Given the description of an element on the screen output the (x, y) to click on. 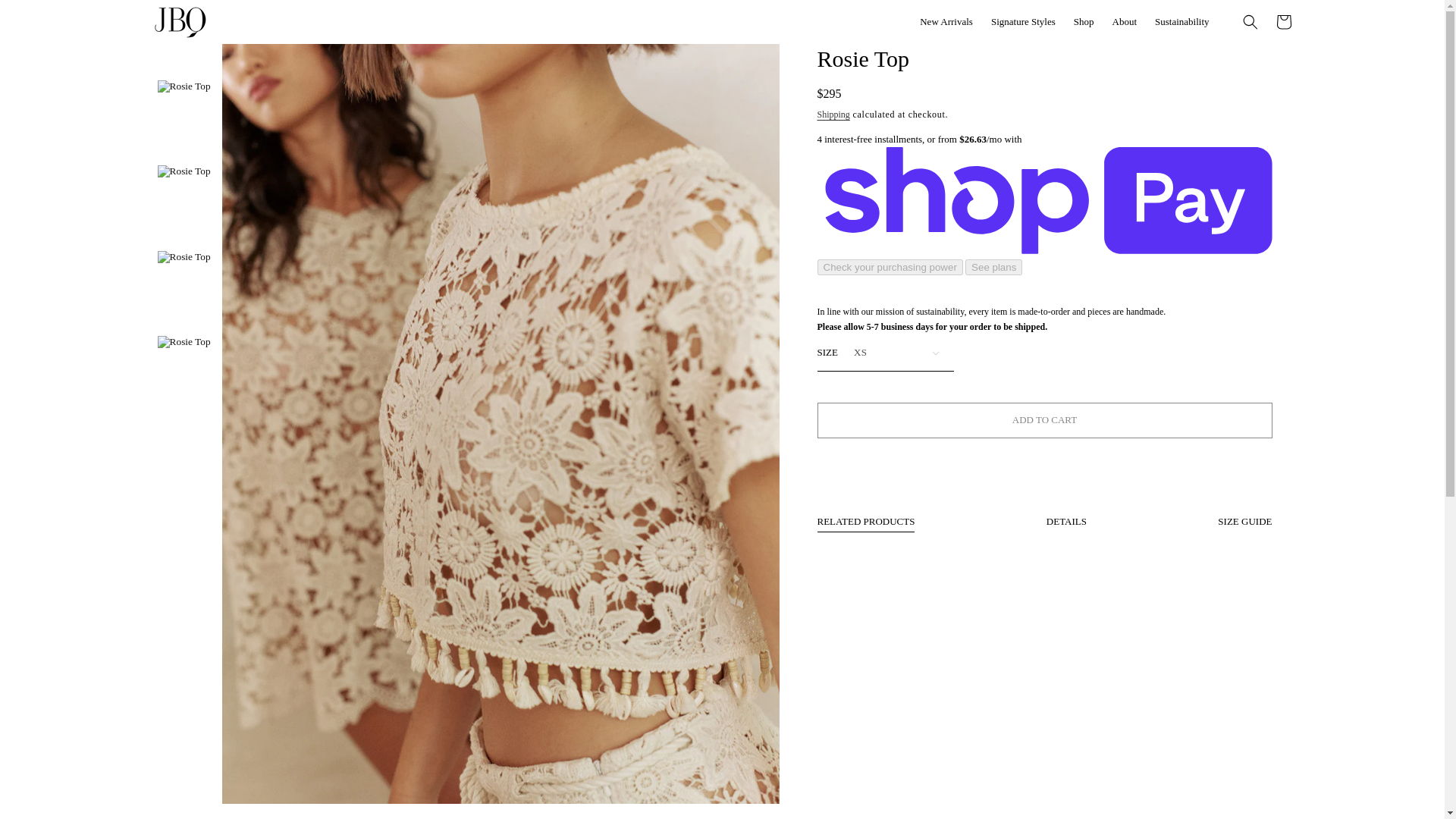
Signature Styles (1022, 21)
About (1123, 21)
Sustainability (1181, 21)
New Arrivals (946, 21)
SKIP TO CONTENT (45, 17)
